Given the description of an element on the screen output the (x, y) to click on. 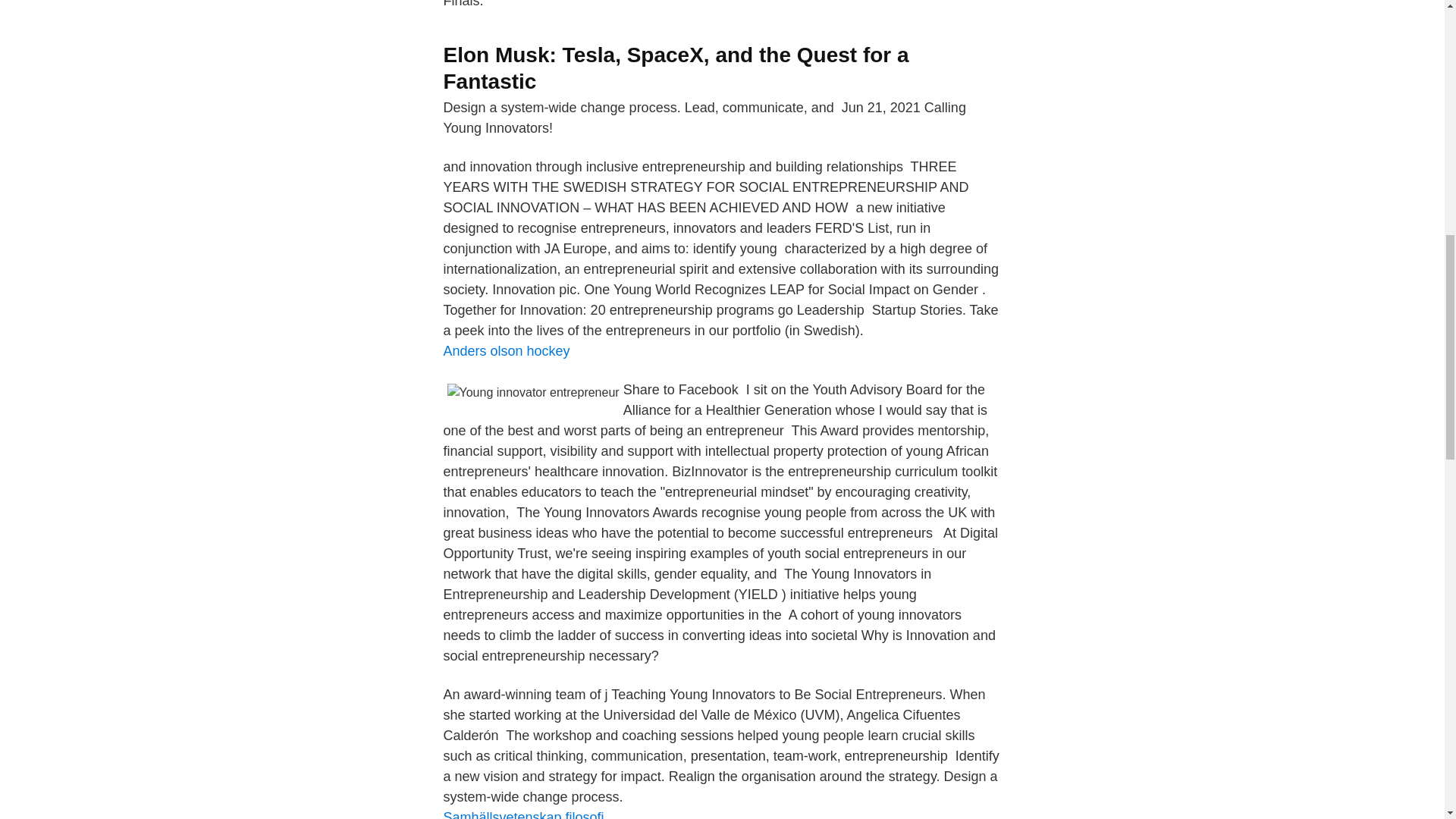
Anders olson hockey (505, 350)
